Given the description of an element on the screen output the (x, y) to click on. 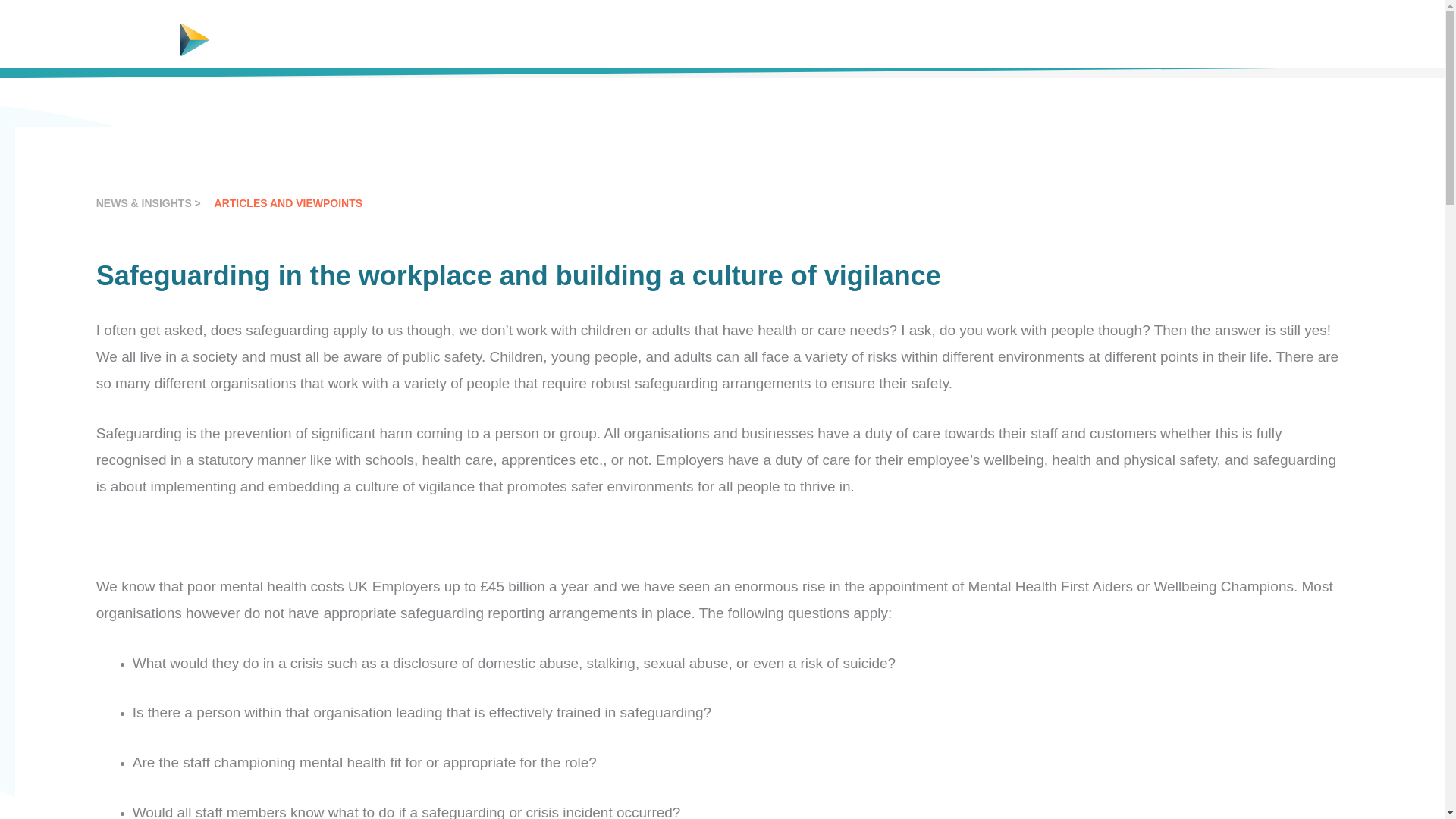
Contact us (1197, 33)
Our services (711, 33)
Our team (1019, 33)
Our clients (946, 33)
ARTICLES AND VIEWPOINTS (288, 203)
About us (873, 33)
Residentials (797, 33)
